Given the description of an element on the screen output the (x, y) to click on. 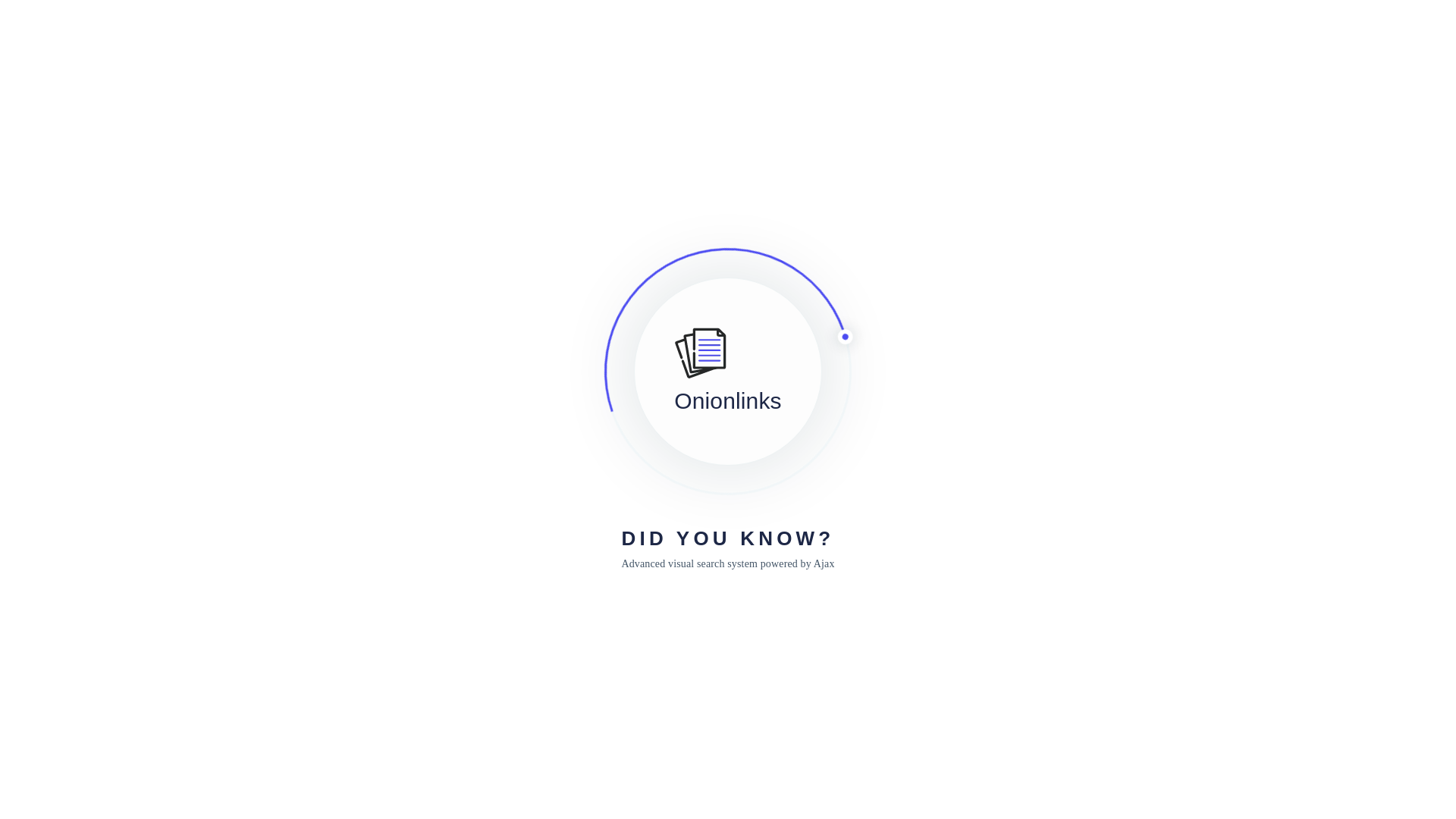
Reddit Wiki (220, 30)
Back to Home Page (726, 492)
